Given the description of an element on the screen output the (x, y) to click on. 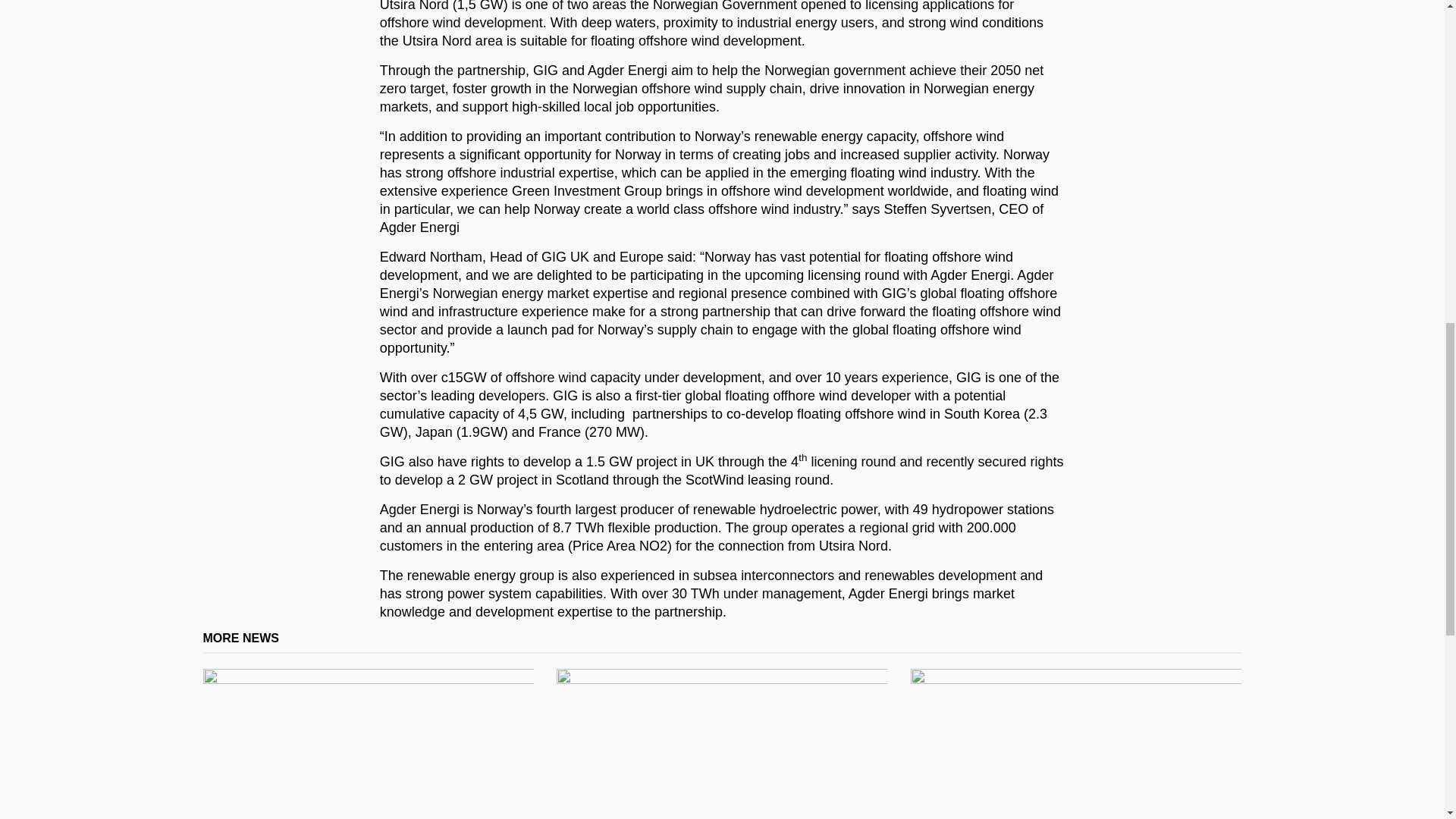
MORE NEWS (241, 637)
